Given the description of an element on the screen output the (x, y) to click on. 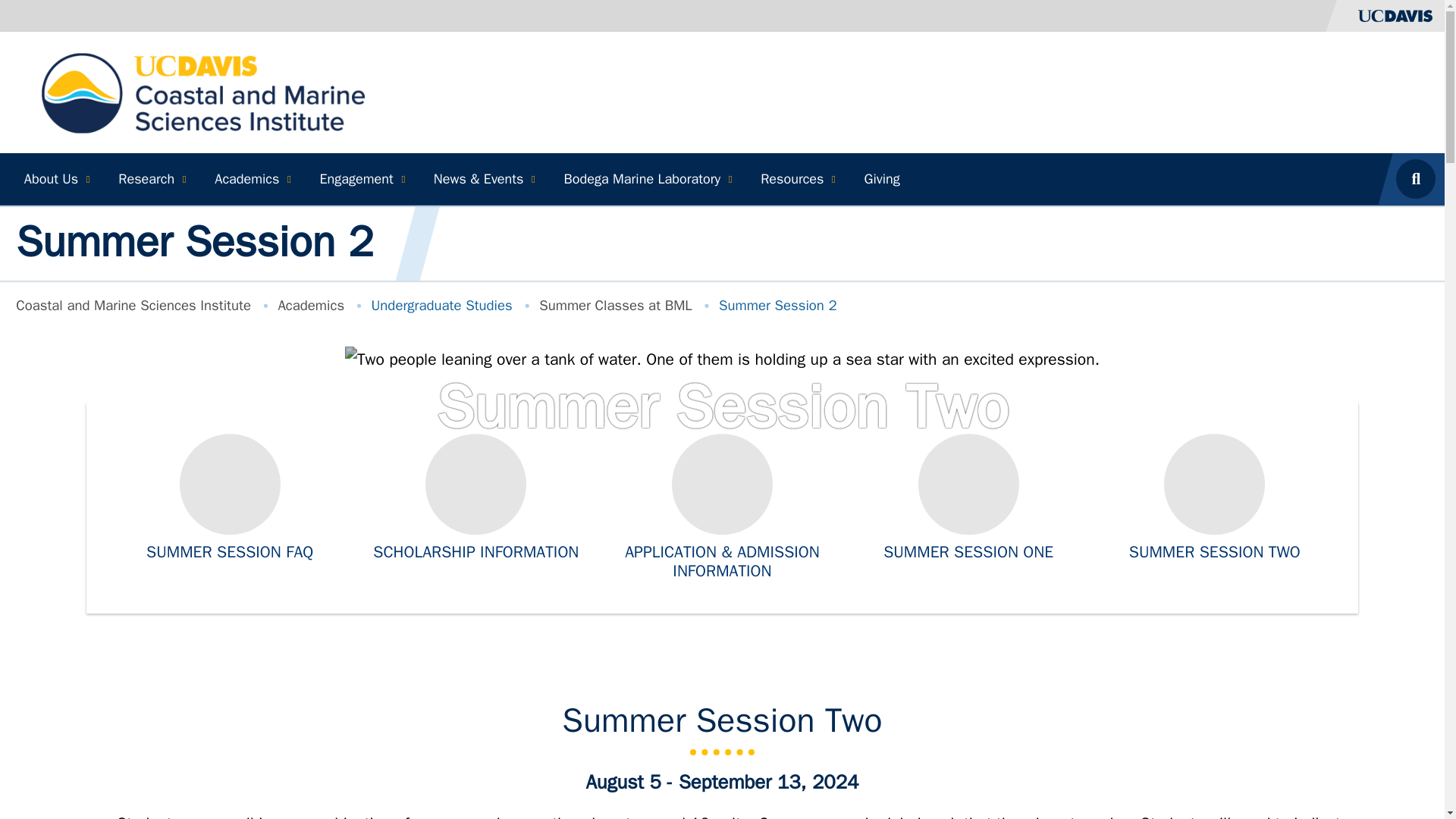
Research (150, 179)
Home (202, 91)
Research (150, 179)
About the Coastal and Marine Sciences Institute (55, 179)
Open Search (1419, 179)
